Given the description of an element on the screen output the (x, y) to click on. 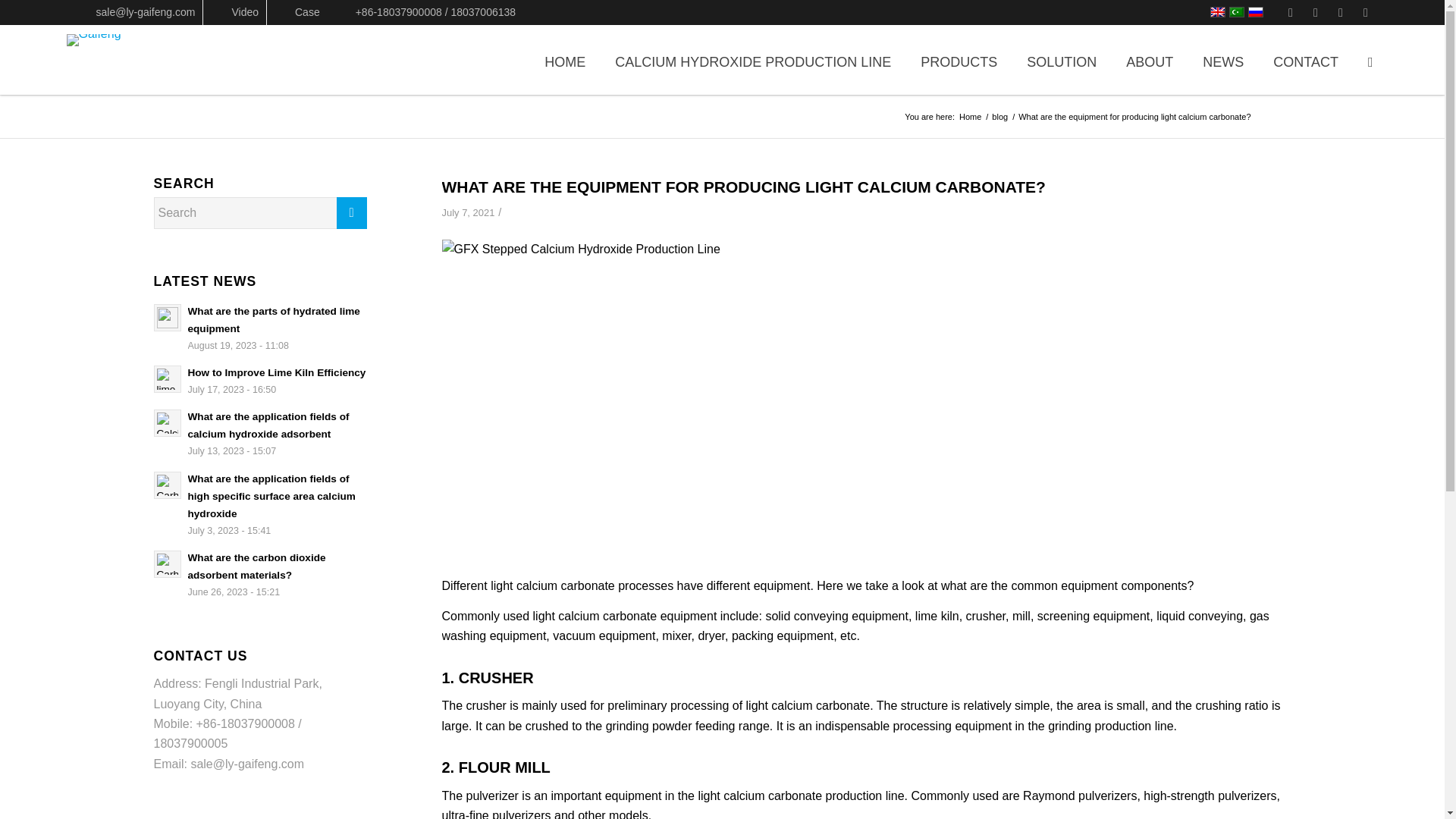
Youtube (1364, 12)
Facebook (1290, 12)
NEWS (1222, 63)
Video (235, 12)
English (1217, 11)
blog (1000, 116)
Case (297, 12)
Twitter (1315, 12)
Gaifeng (970, 116)
LinkedIn (1340, 12)
SOLUTION (1062, 63)
ABOUT (1149, 63)
HOME (564, 63)
